Given the description of an element on the screen output the (x, y) to click on. 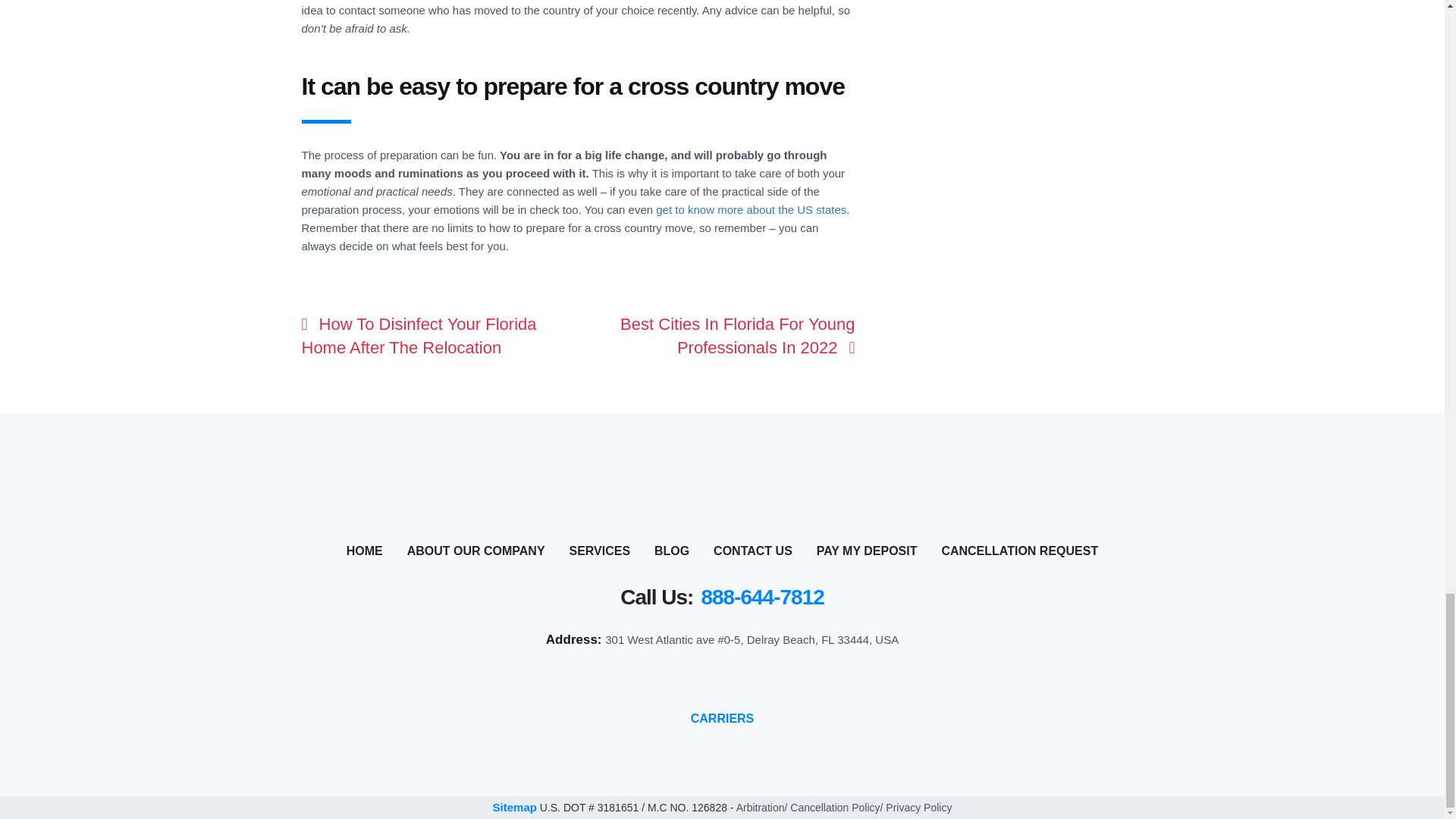
How To Disinfect Your Florida Home After The Relocation (419, 335)
Best Cities In Florida For Young Professionals In 2022 (737, 335)
get to know more about the US states (750, 209)
